Given the description of an element on the screen output the (x, y) to click on. 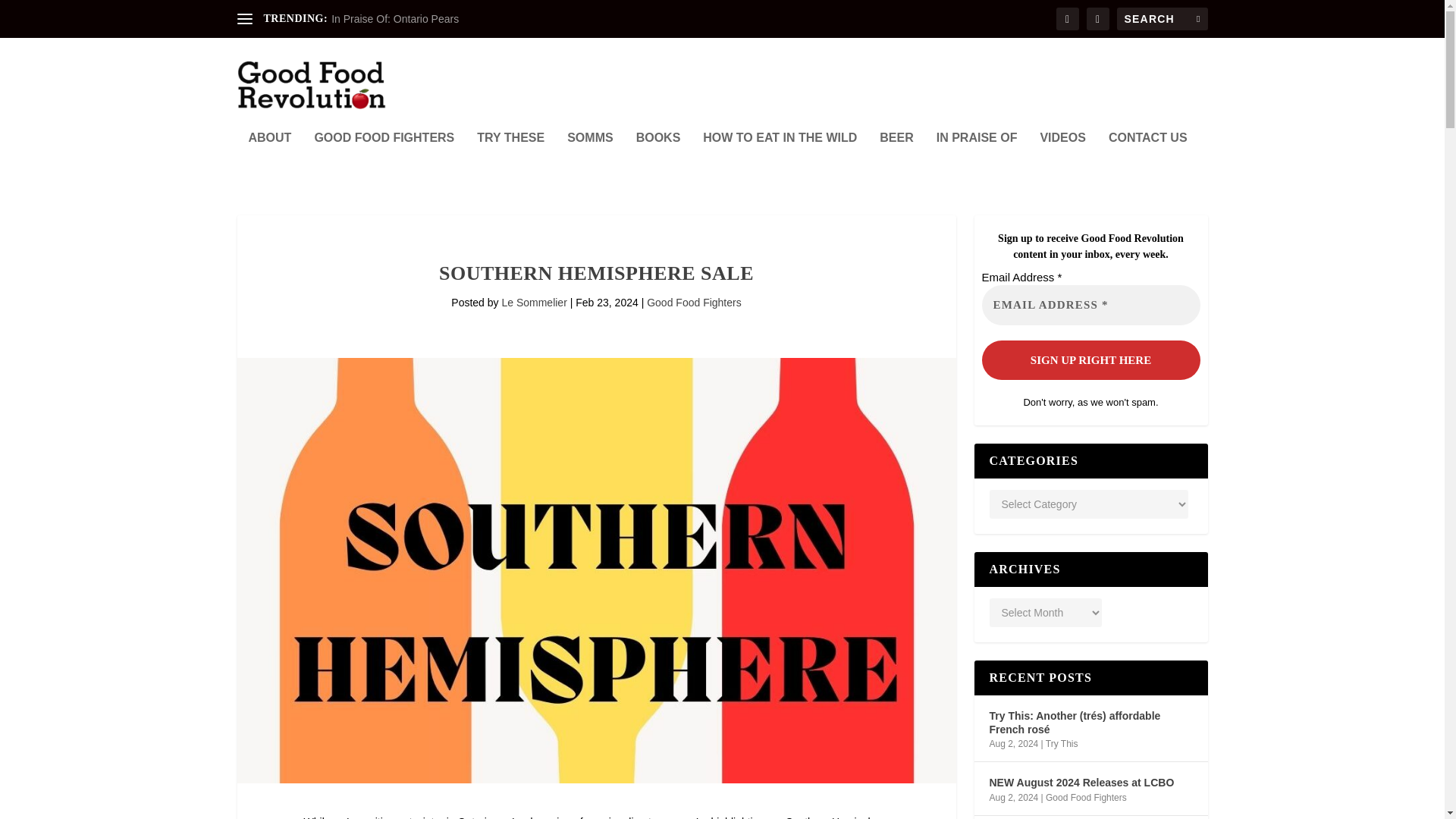
In Praise Of: Ontario Pears (394, 19)
TRY THESE (510, 158)
CONTACT US (1148, 158)
Good Food Fighters (693, 302)
Le Sommelier (533, 302)
GOOD FOOD FIGHTERS (384, 158)
HOW TO EAT IN THE WILD (780, 158)
Posts by Le Sommelier (533, 302)
Sign Up Right Here (1090, 359)
Search for: (1161, 18)
IN PRAISE OF (976, 158)
